Given the description of an element on the screen output the (x, y) to click on. 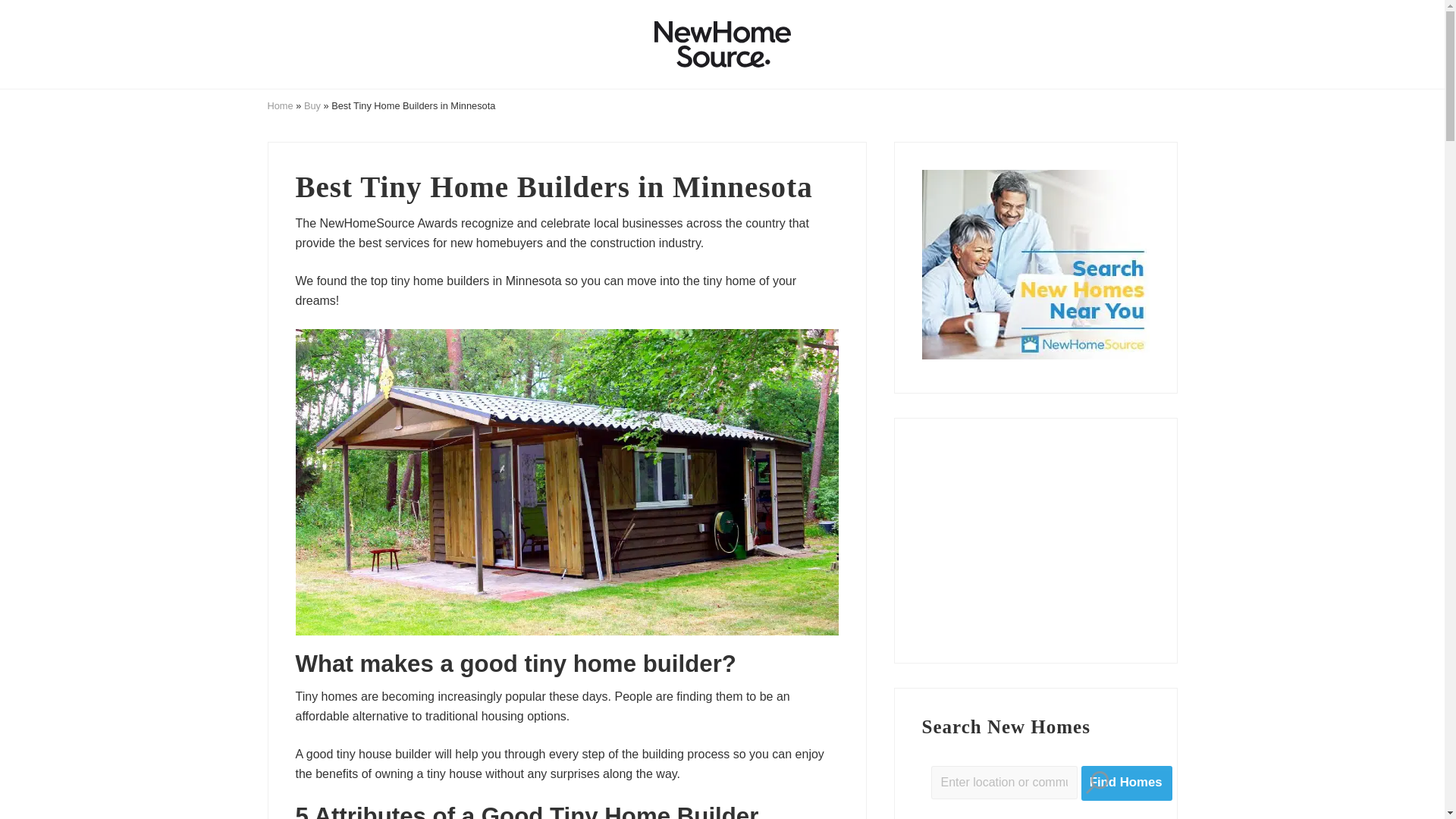
Find Homes (1126, 782)
Home (279, 105)
Buy (312, 105)
Find Homes (1126, 782)
